Given the description of an element on the screen output the (x, y) to click on. 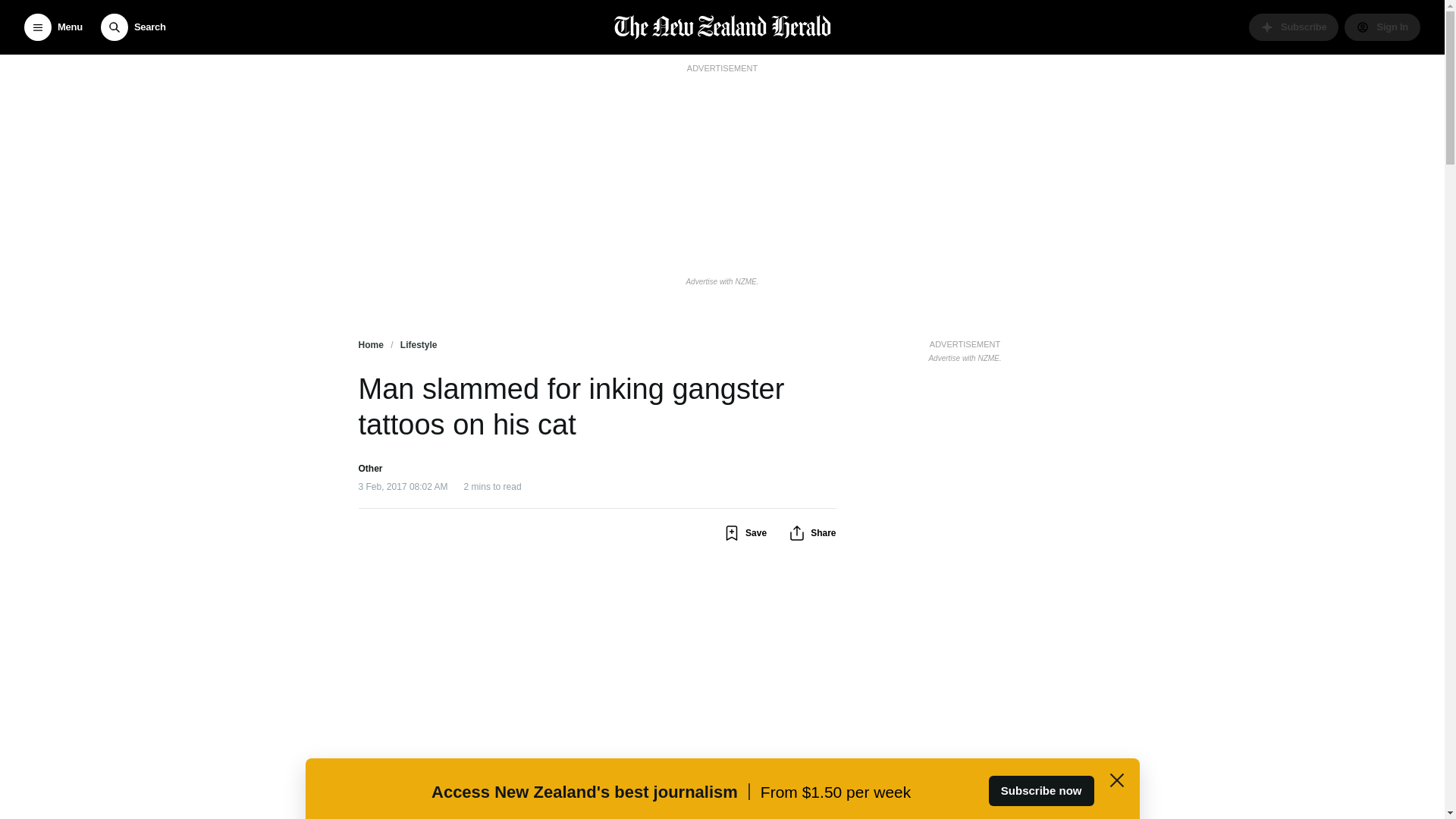
Menu (53, 26)
Search (132, 26)
Sign In (1382, 26)
Subscribe (1294, 26)
Manage your account (1382, 26)
